Given the description of an element on the screen output the (x, y) to click on. 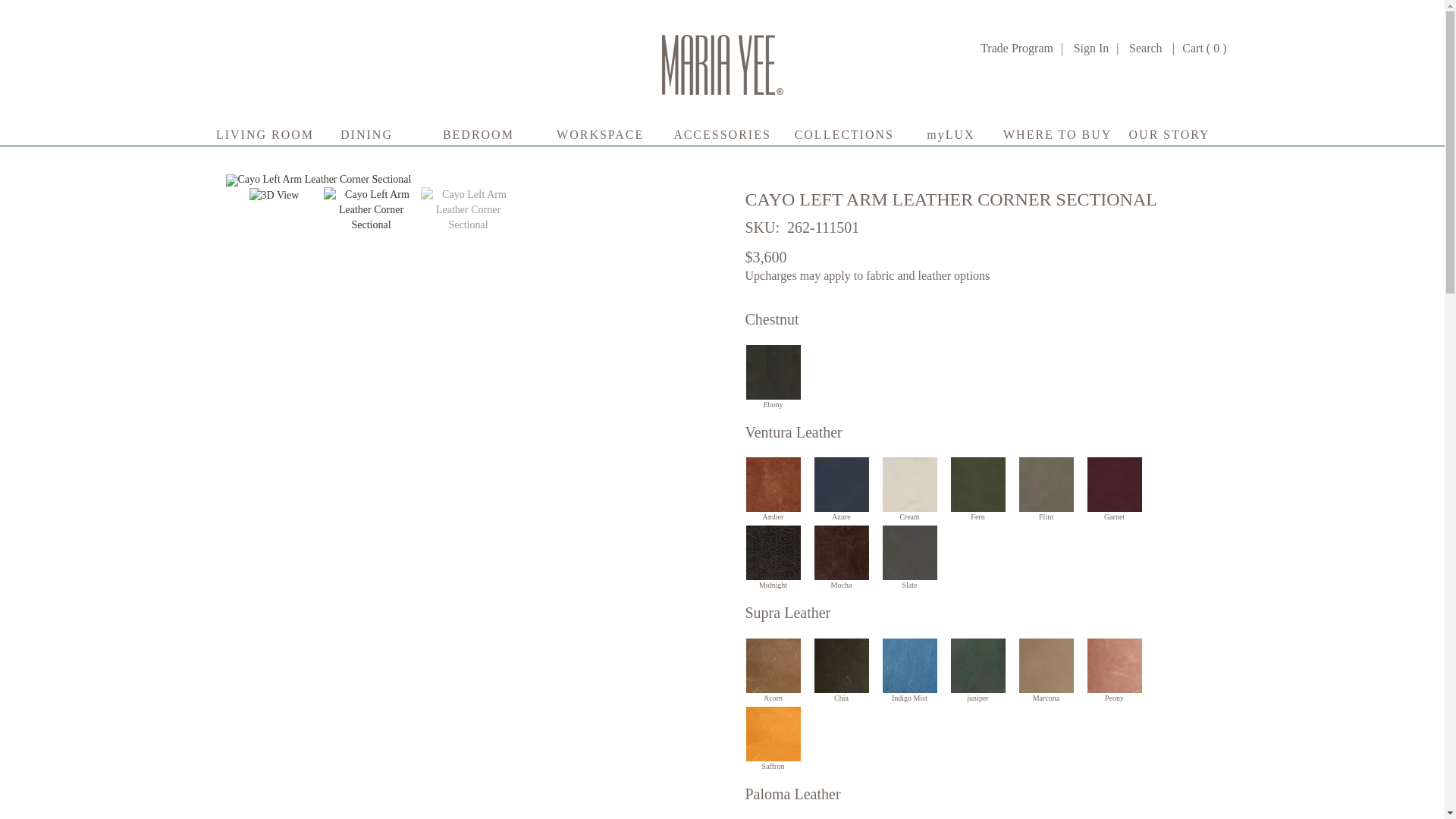
Saffron (772, 734)
Fern (977, 484)
Ebony (772, 372)
Garnet (1114, 484)
Amber (772, 484)
Trade Program (1016, 47)
BEDROOM (477, 133)
Indigo Mist (909, 665)
Cream (909, 484)
Slate (909, 552)
